Given the description of an element on the screen output the (x, y) to click on. 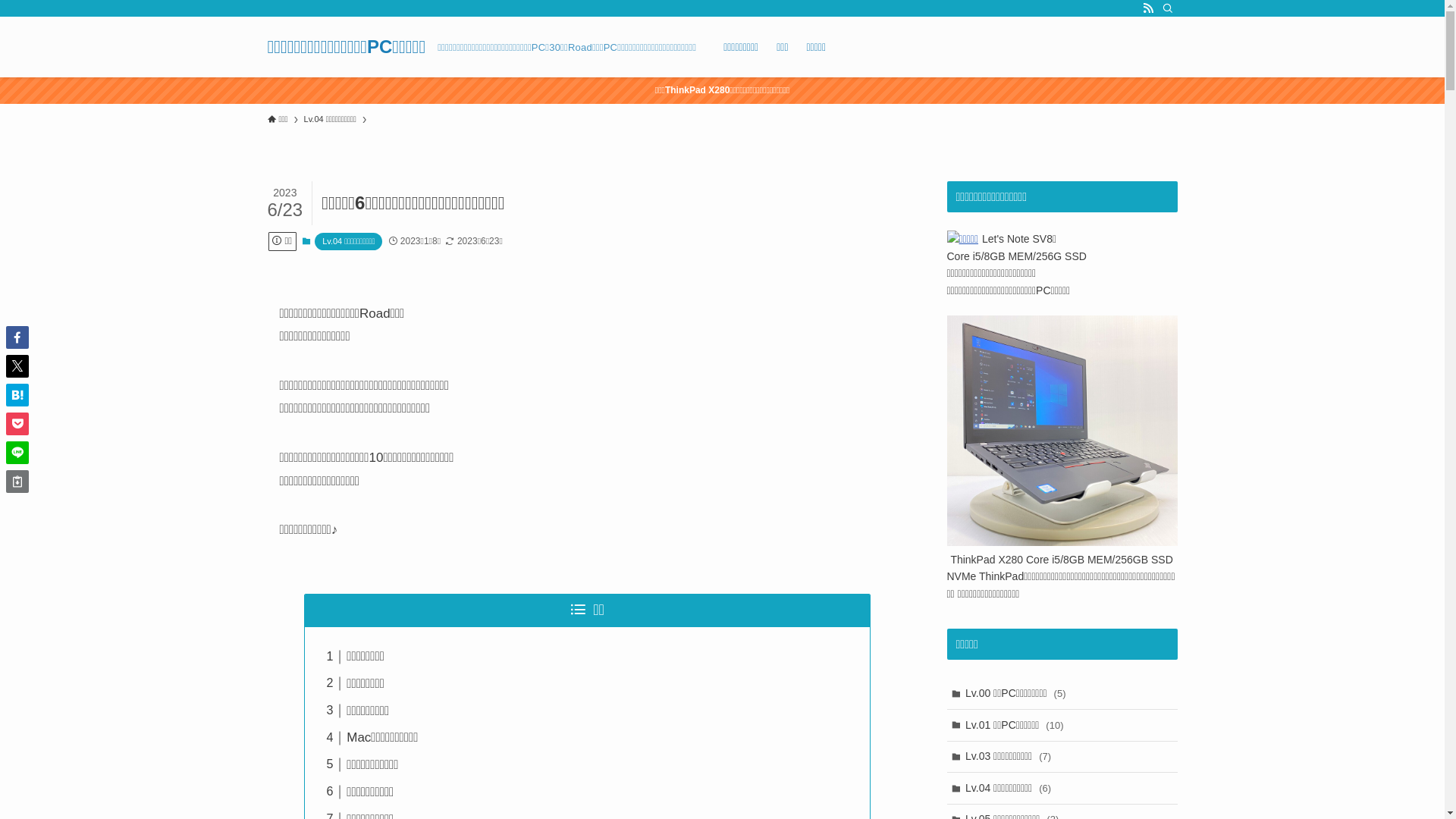
search Element type: text (921, 421)
